Given the description of an element on the screen output the (x, y) to click on. 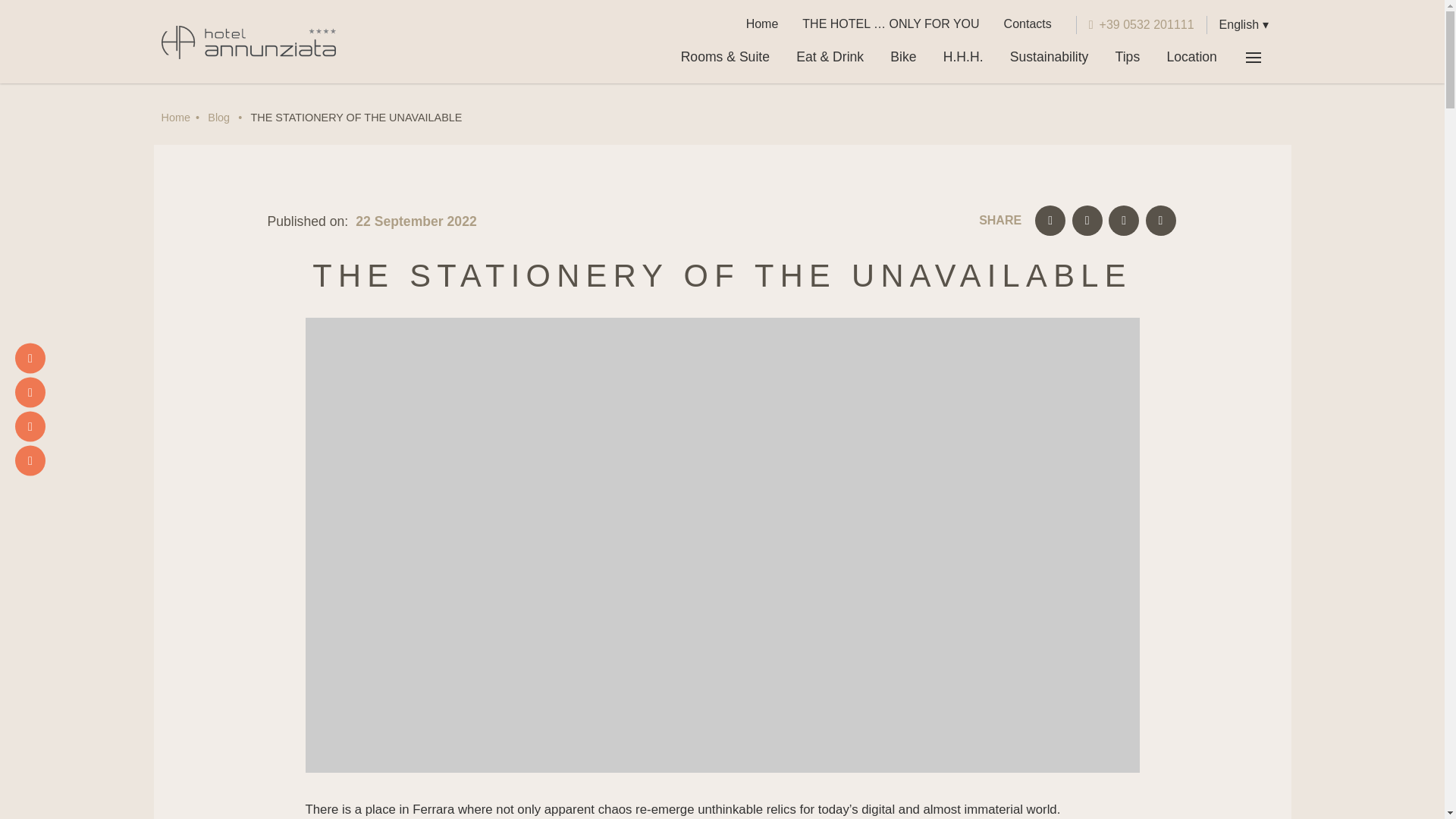
Contacts (1027, 24)
Home (761, 24)
Bike (903, 57)
Location (1191, 57)
Tips (1127, 57)
English (1244, 24)
Sustainability (1048, 57)
H.H.H. (962, 57)
